Given the description of an element on the screen output the (x, y) to click on. 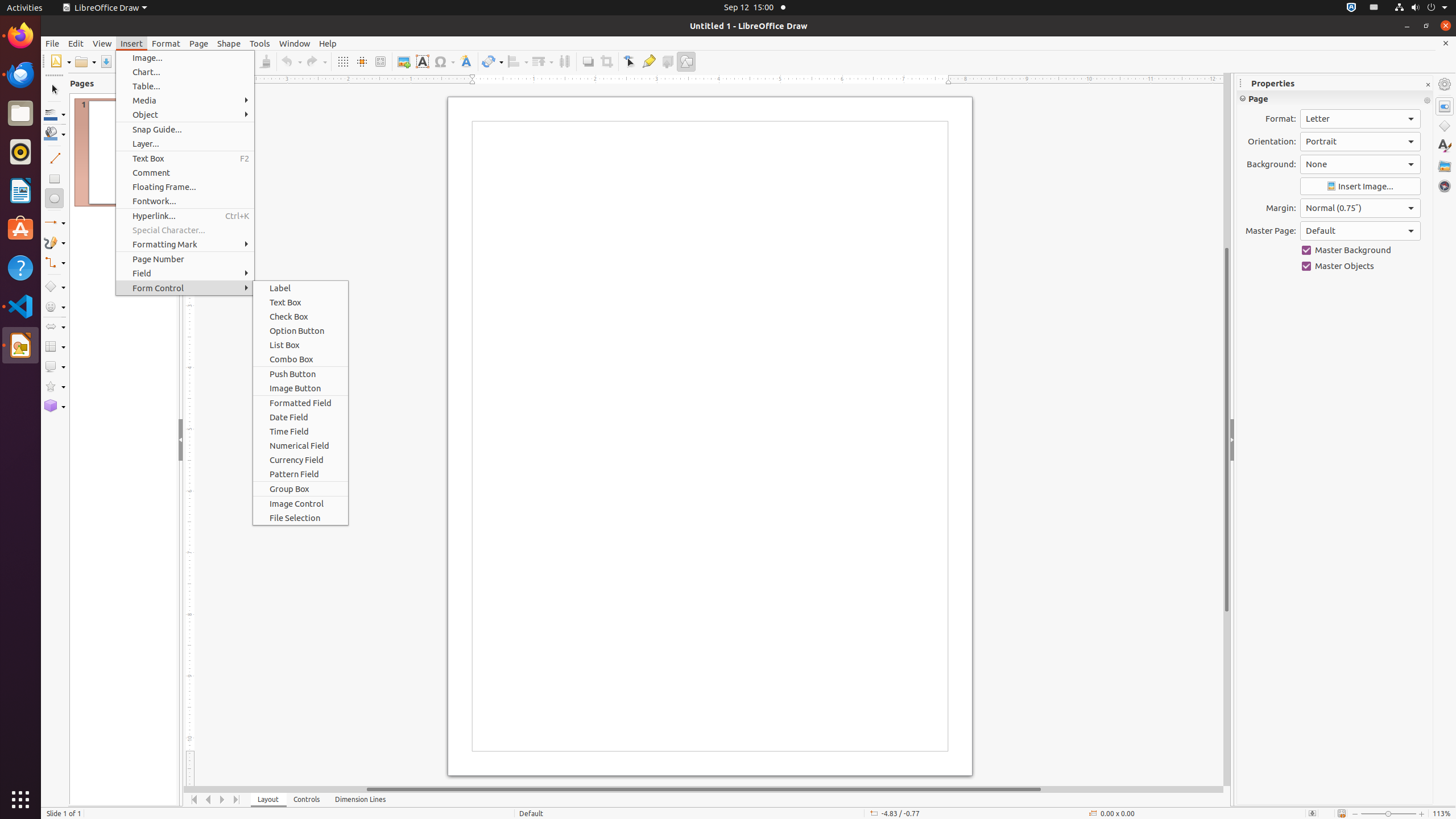
Numerical Field Element type: check-menu-item (300, 445)
Symbol Element type: push-button (443, 61)
Move Left Element type: push-button (208, 799)
More Options Element type: push-button (1426, 100)
Distribution Element type: push-button (564, 61)
